Given the description of an element on the screen output the (x, y) to click on. 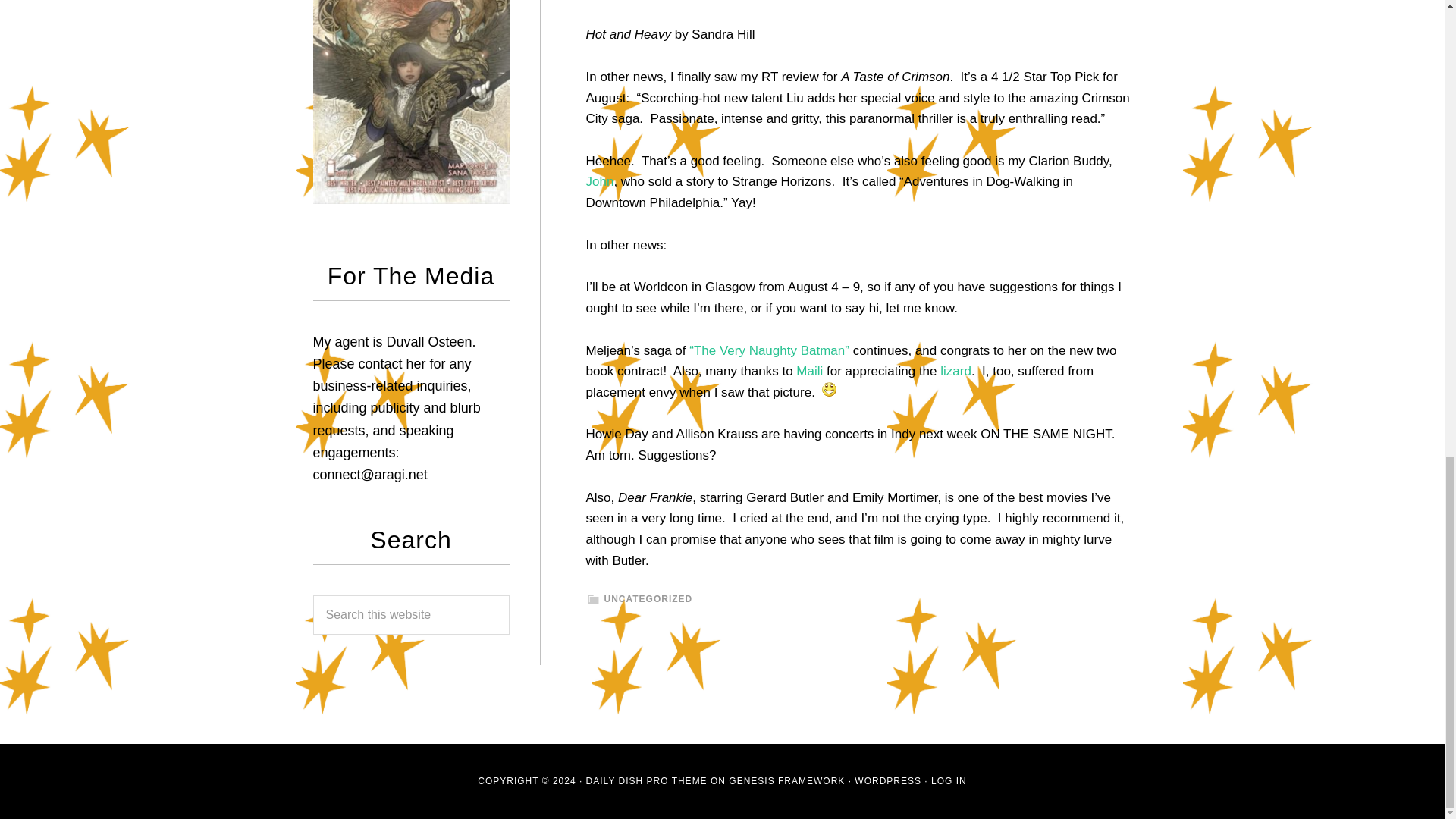
UNCATEGORIZED (648, 598)
LOG IN (948, 780)
John (598, 181)
lizard (955, 370)
Maili (809, 370)
GENESIS FRAMEWORK (786, 780)
WORDPRESS (887, 780)
DAILY DISH PRO THEME (646, 780)
